Given the description of an element on the screen output the (x, y) to click on. 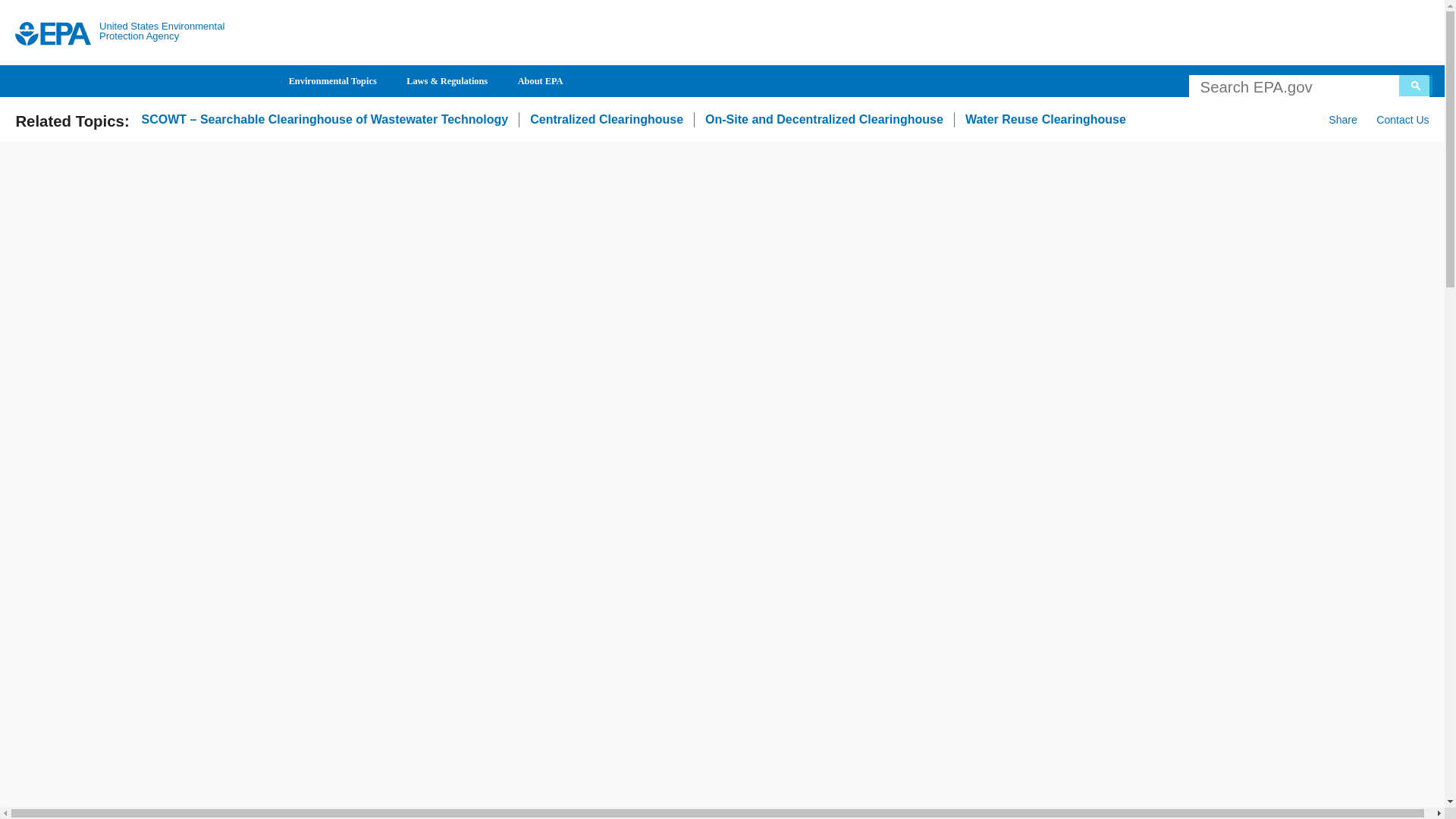
US EPA (52, 33)
About EPA (540, 81)
Go to the home page (52, 33)
Environmental Topics (332, 81)
Search (1415, 85)
Search (1415, 85)
